Given the description of an element on the screen output the (x, y) to click on. 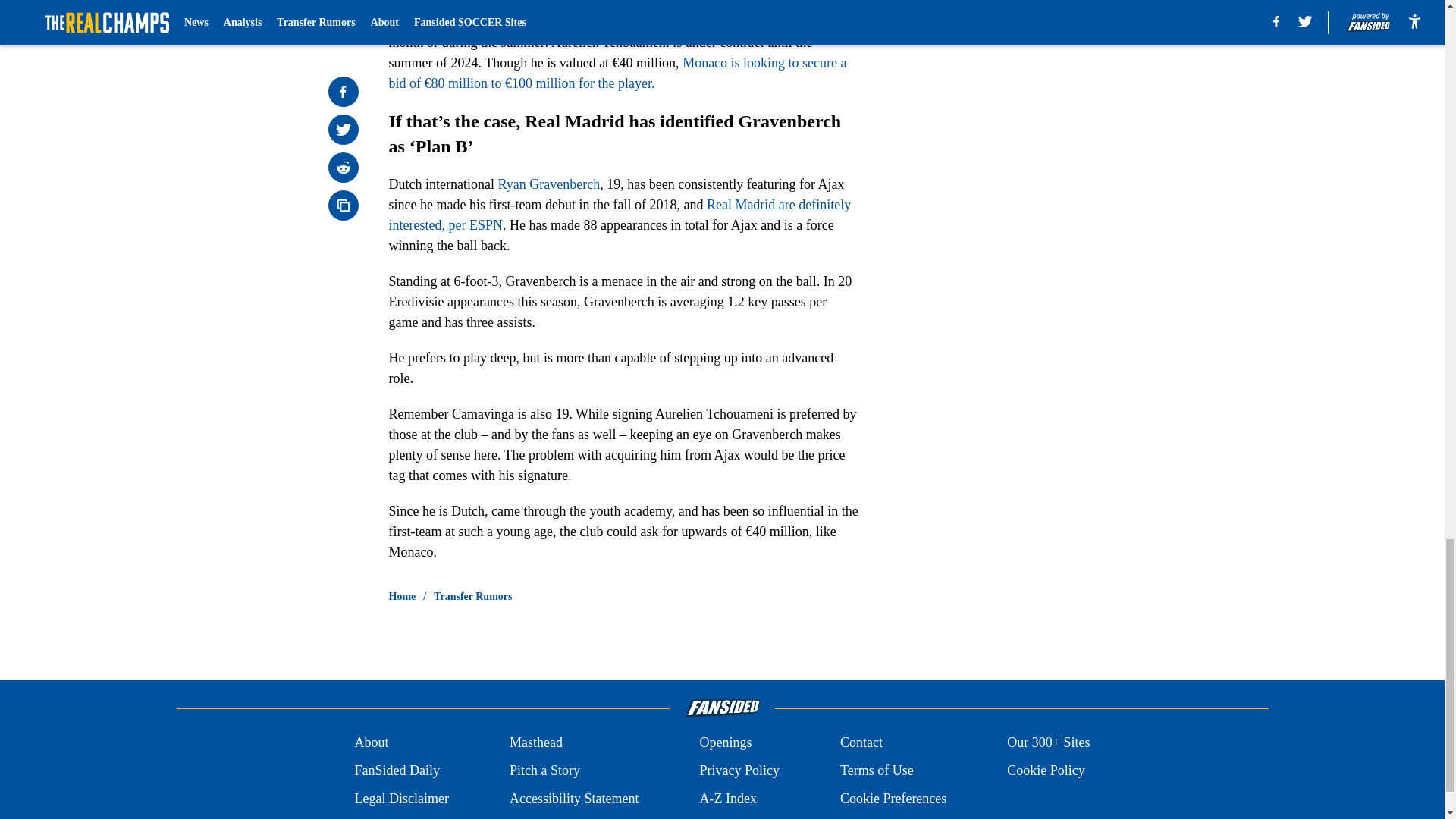
Home (401, 596)
Pitch a Story (544, 770)
A-Z Index (726, 798)
FanSided Daily (396, 770)
Accessibility Statement (574, 798)
Privacy Policy (738, 770)
Cookie Preferences (893, 798)
About (370, 742)
Masthead (535, 742)
Cookie Policy (1045, 770)
Transfer Rumors (472, 596)
Real Madrid are definitely interested, per ESPN (619, 214)
Openings (724, 742)
Terms of Use (877, 770)
Contact (861, 742)
